Given the description of an element on the screen output the (x, y) to click on. 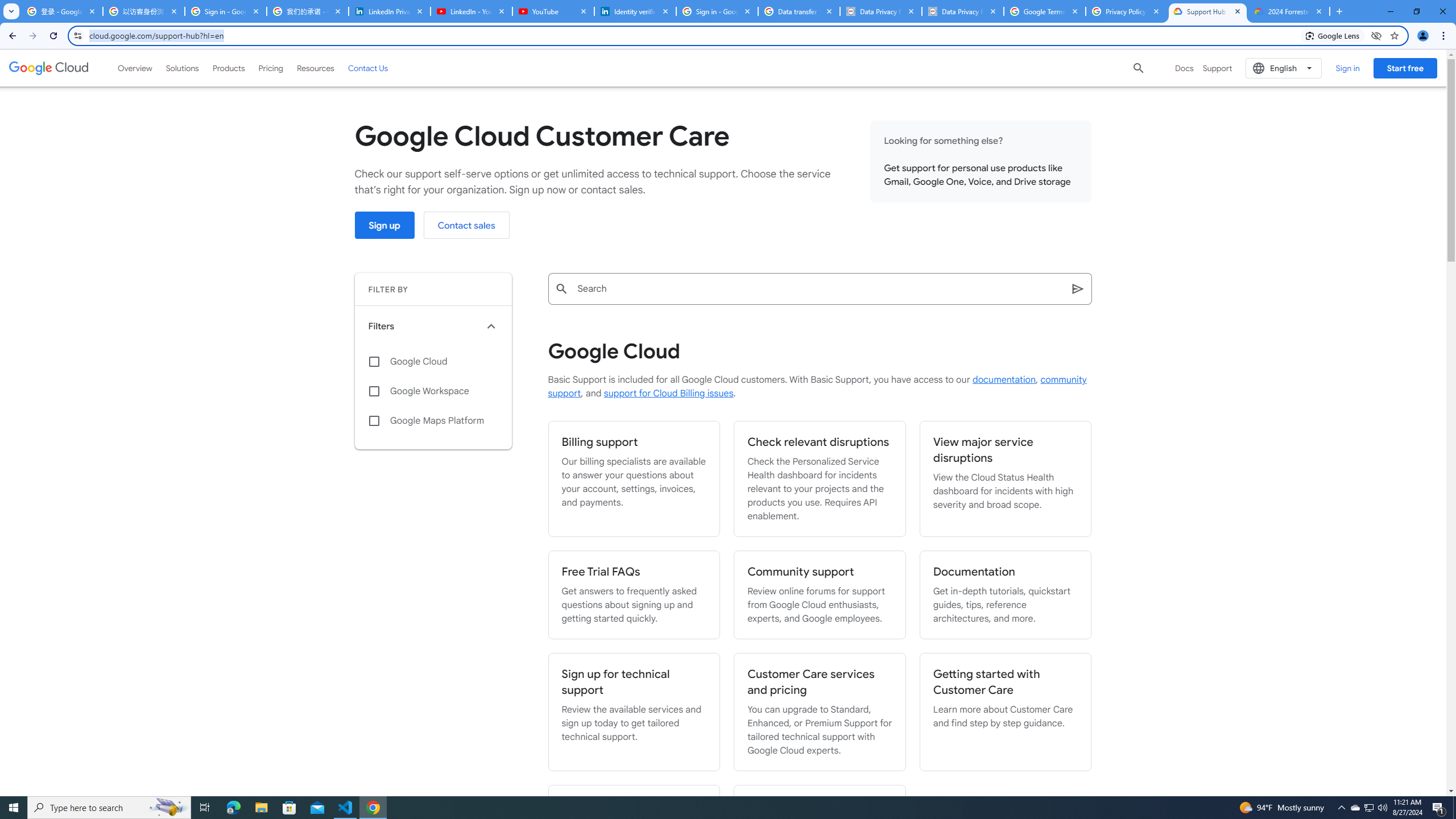
Google Cloud (48, 67)
Start free (1405, 67)
LinkedIn Privacy Policy (389, 11)
Filters keyboard_arrow_up (432, 326)
Products (228, 67)
community support (816, 386)
Google Maps Platform (432, 420)
Google Workspace (432, 391)
